Given the description of an element on the screen output the (x, y) to click on. 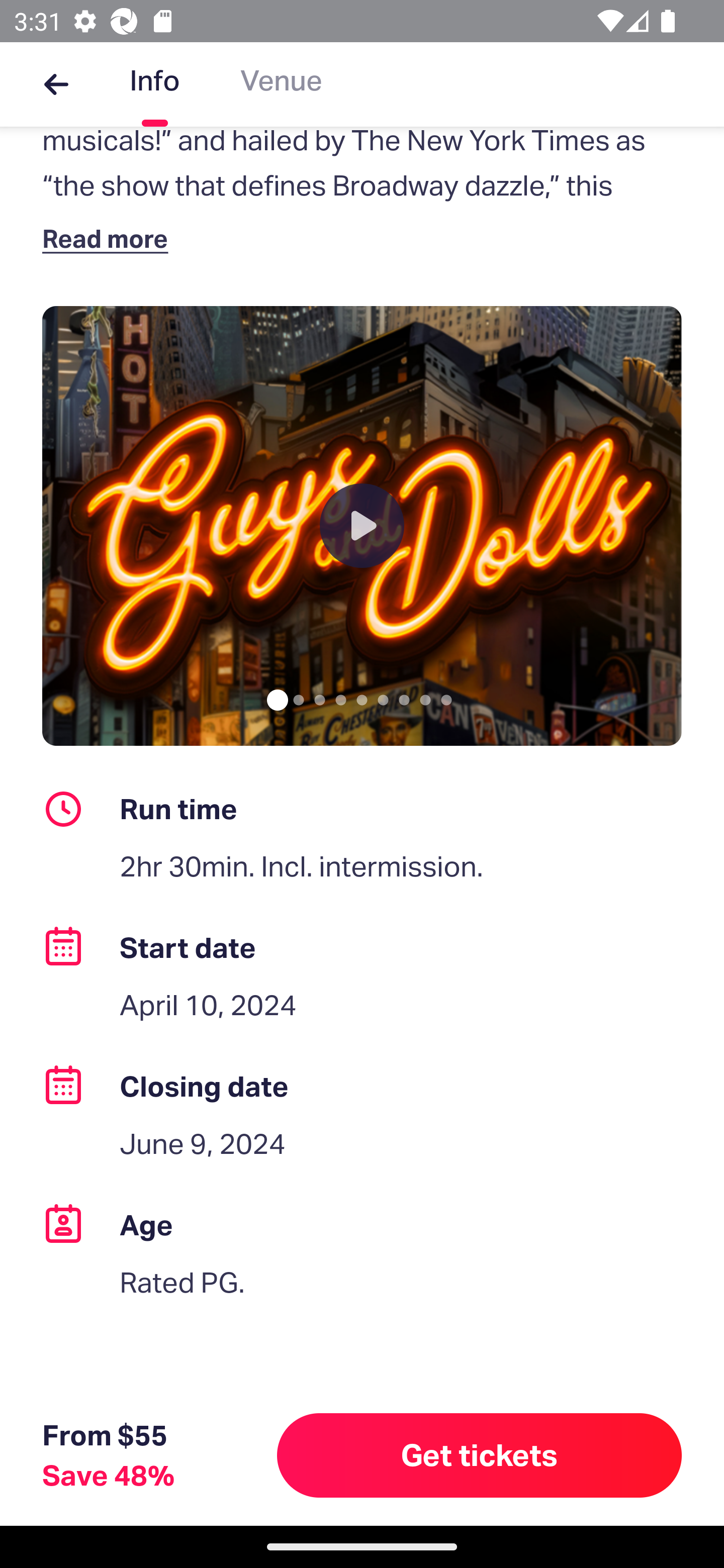
Venue (280, 84)
Read more (109, 238)
Get tickets (479, 1454)
